Given the description of an element on the screen output the (x, y) to click on. 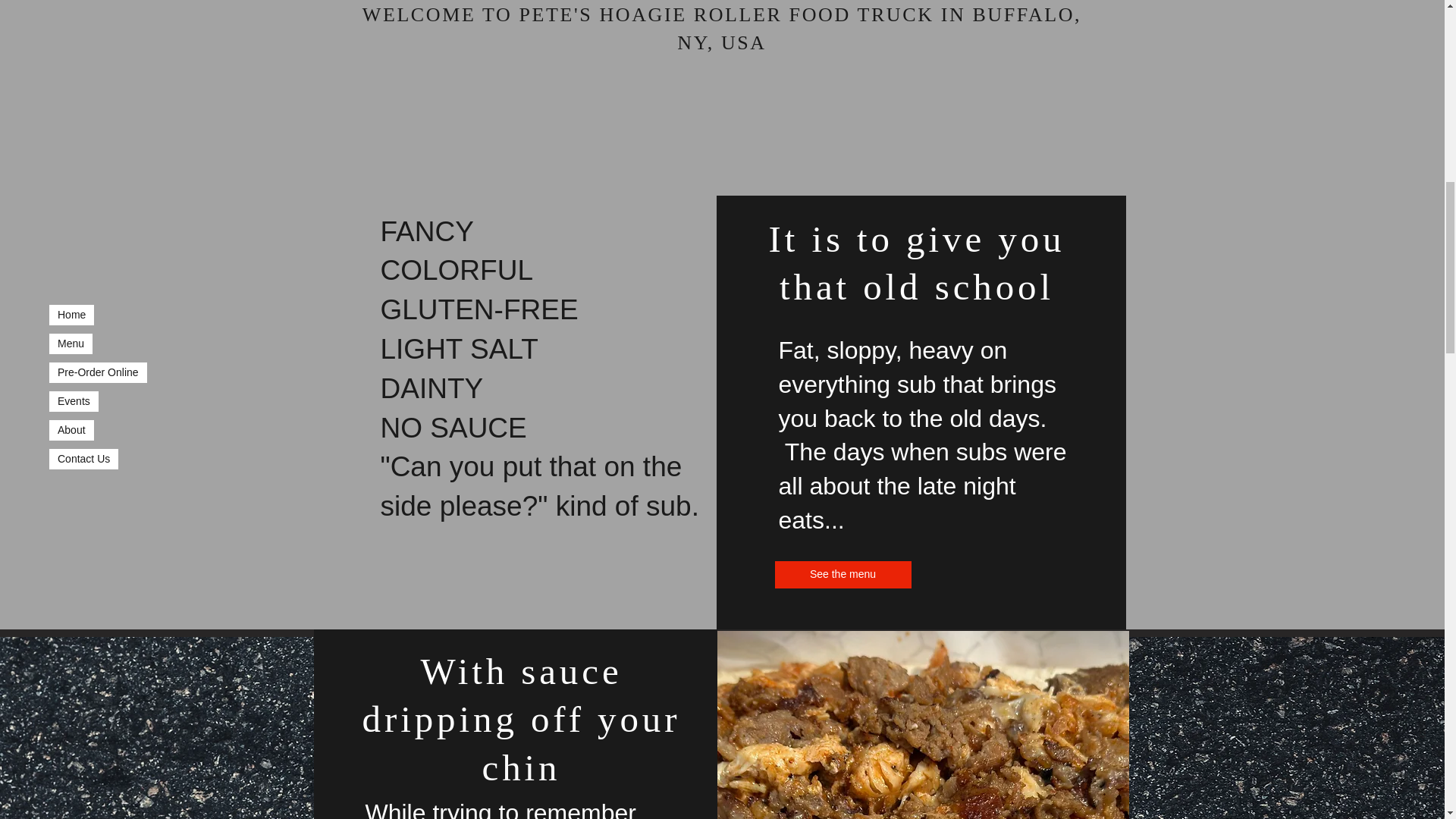
See the menu (842, 574)
